Given the description of an element on the screen output the (x, y) to click on. 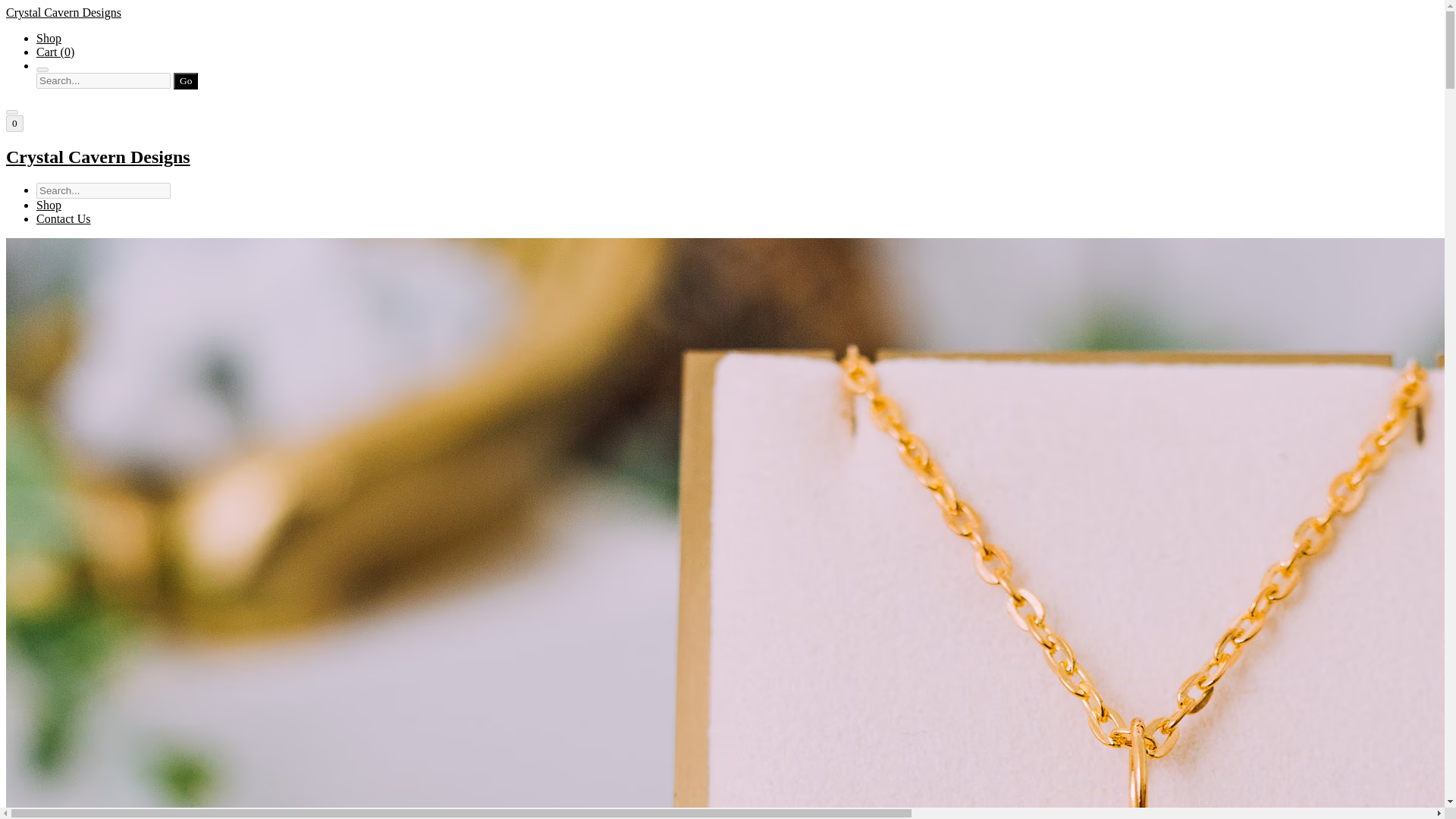
Go (185, 80)
Shop (48, 205)
Crystal Cavern Designs (721, 157)
Shop (48, 38)
Contact Us (63, 218)
Go (185, 80)
0 (14, 123)
